Given the description of an element on the screen output the (x, y) to click on. 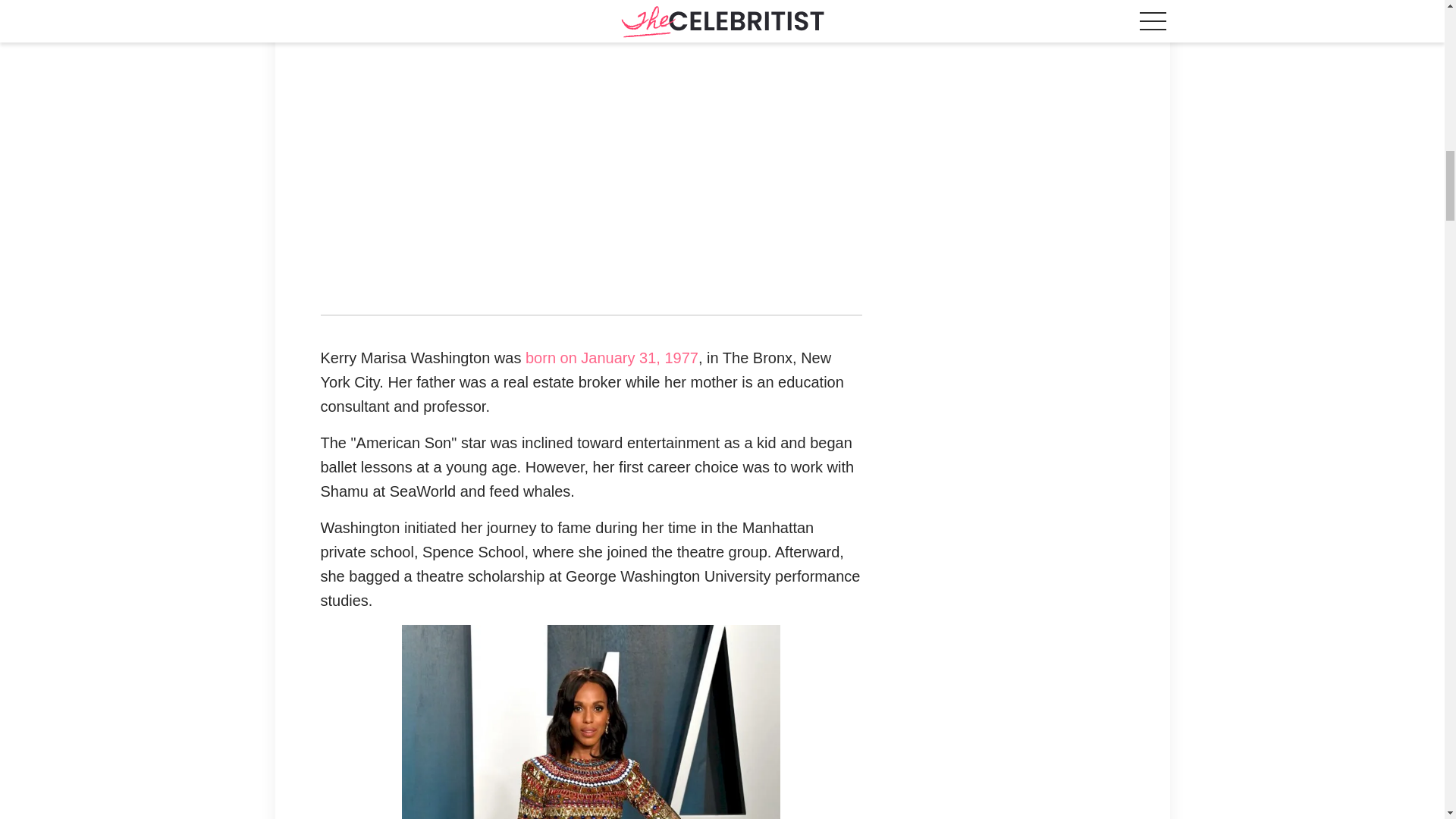
born on January 31, 1977 (611, 357)
